Given the description of an element on the screen output the (x, y) to click on. 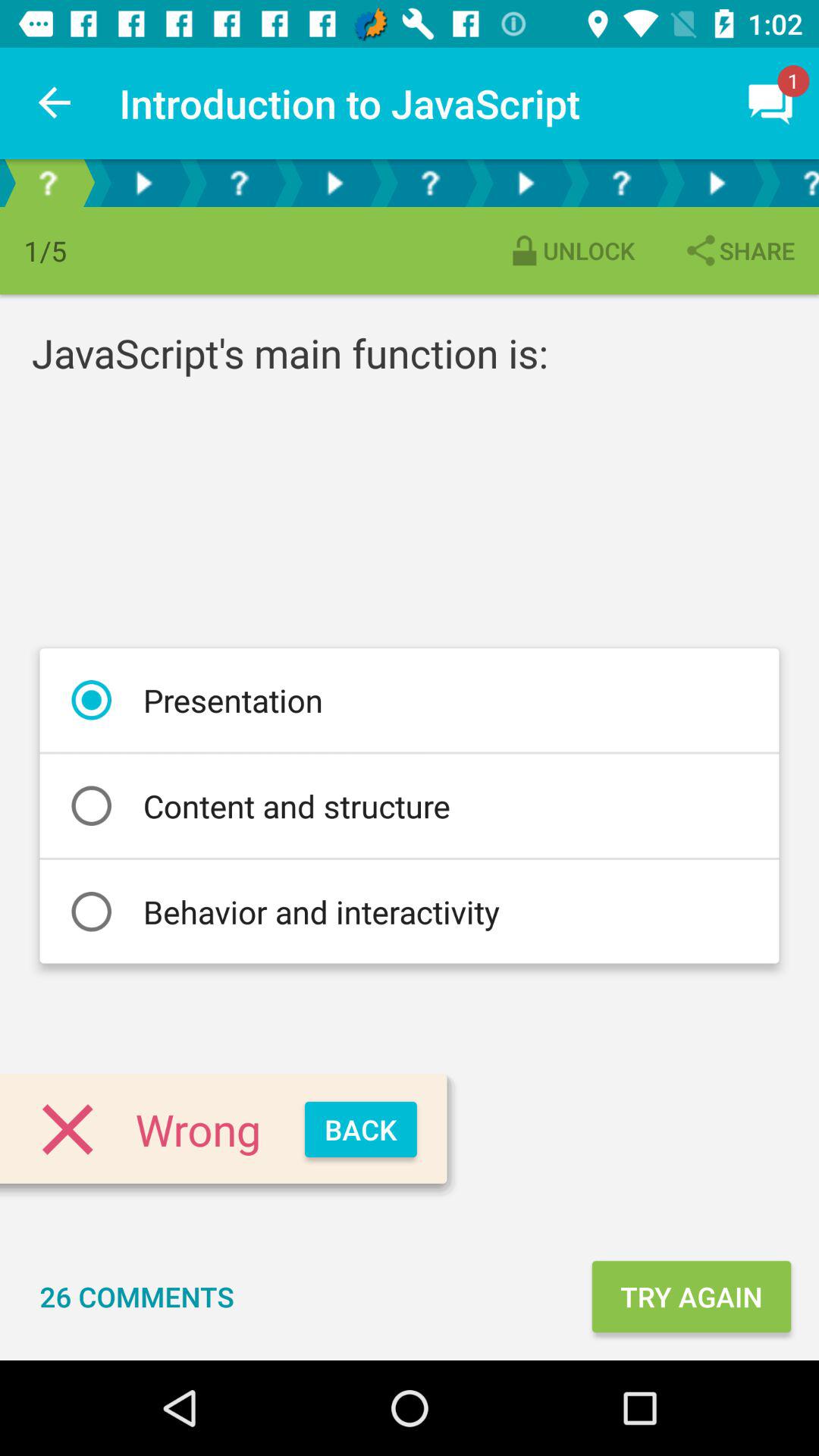
play feature (143, 183)
